Given the description of an element on the screen output the (x, y) to click on. 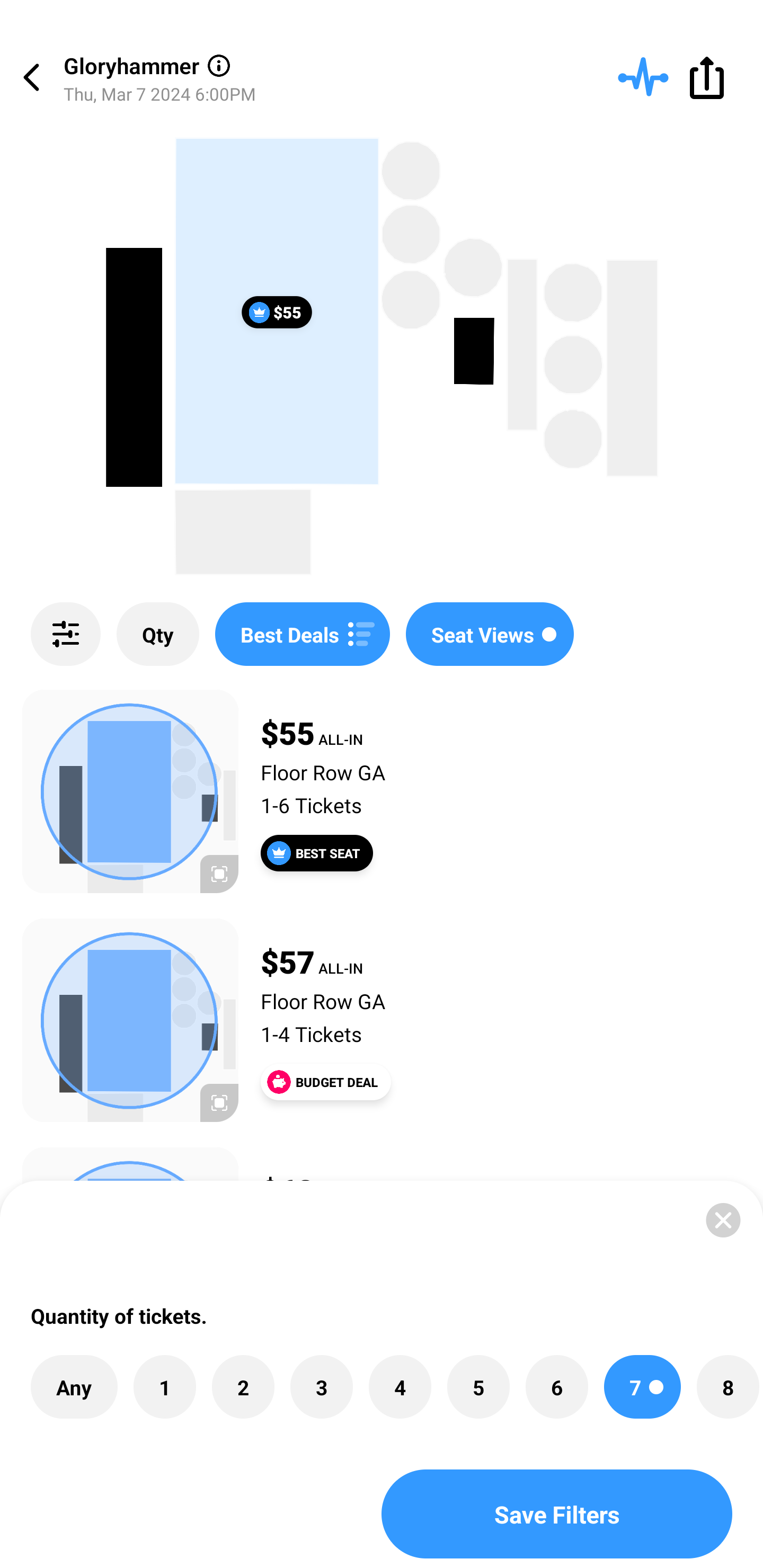
Any (73, 1386)
1 (164, 1386)
2 (243, 1386)
3 (321, 1386)
4 (399, 1386)
5 (478, 1386)
6 (556, 1386)
7 (642, 1386)
8 (727, 1386)
Save Filters (556, 1513)
